Given the description of an element on the screen output the (x, y) to click on. 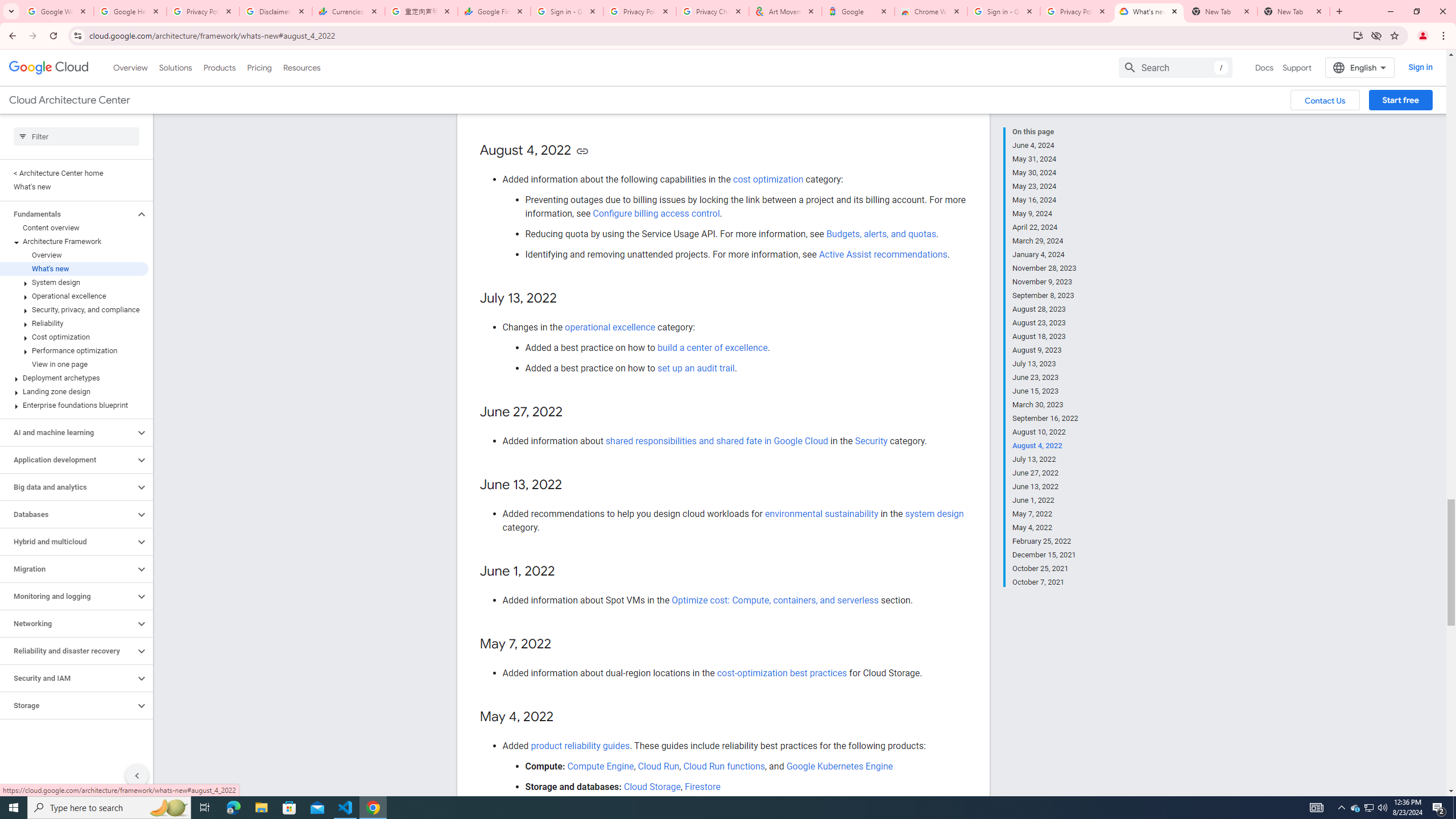
Storage (67, 705)
Copy link to this section: May 7, 2022 (563, 644)
Hybrid and multicloud (67, 541)
June 15, 2023 (1044, 391)
January 4, 2024 (1044, 254)
Copy link to this section: August 4, 2022 (582, 151)
June 4, 2024 (1044, 145)
May 30, 2024 (1044, 172)
Reliability and disaster recovery (67, 650)
Sign in - Google Accounts (566, 11)
